Given the description of an element on the screen output the (x, y) to click on. 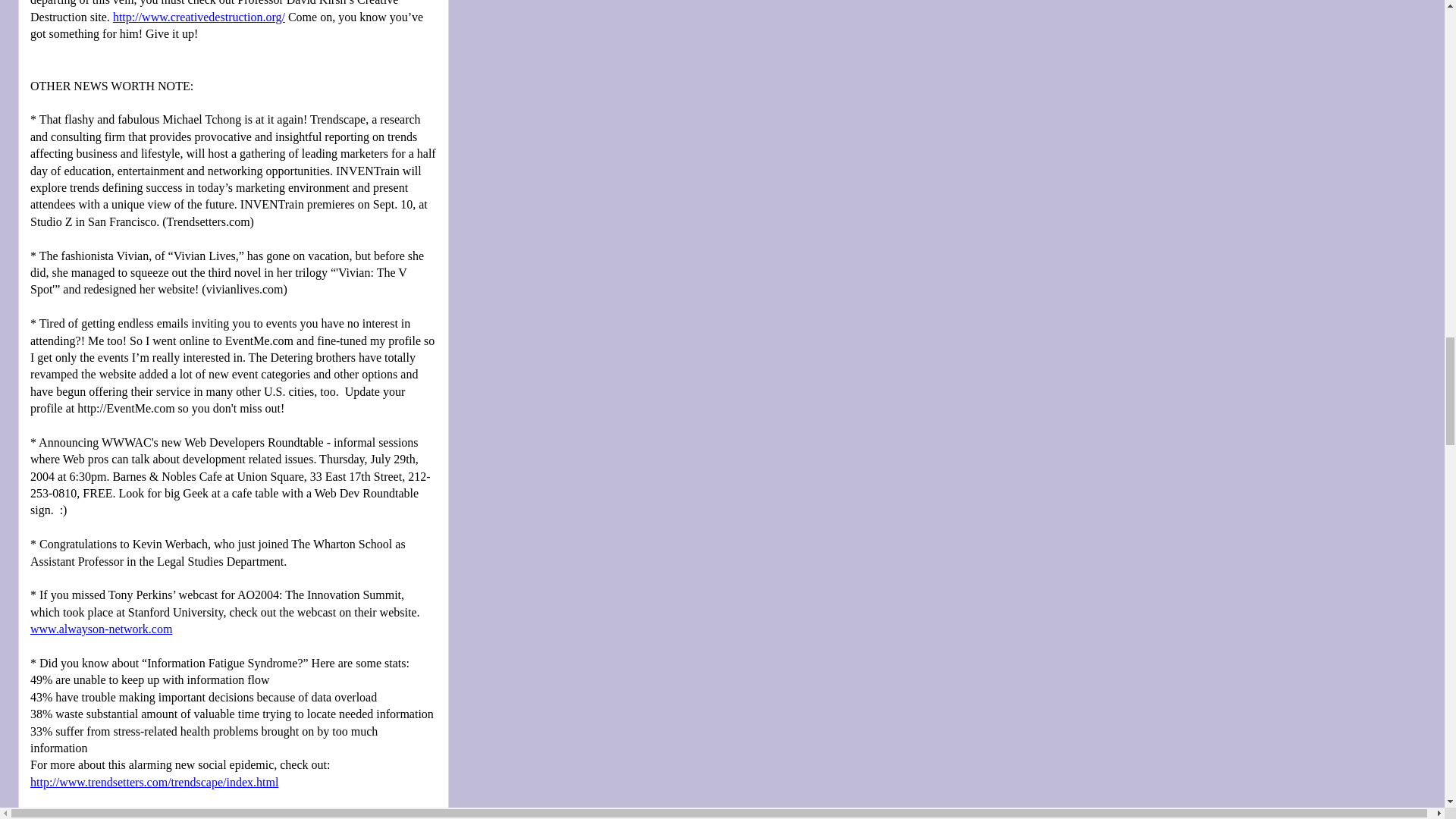
www.alwayson-network.com (100, 628)
